Given the description of an element on the screen output the (x, y) to click on. 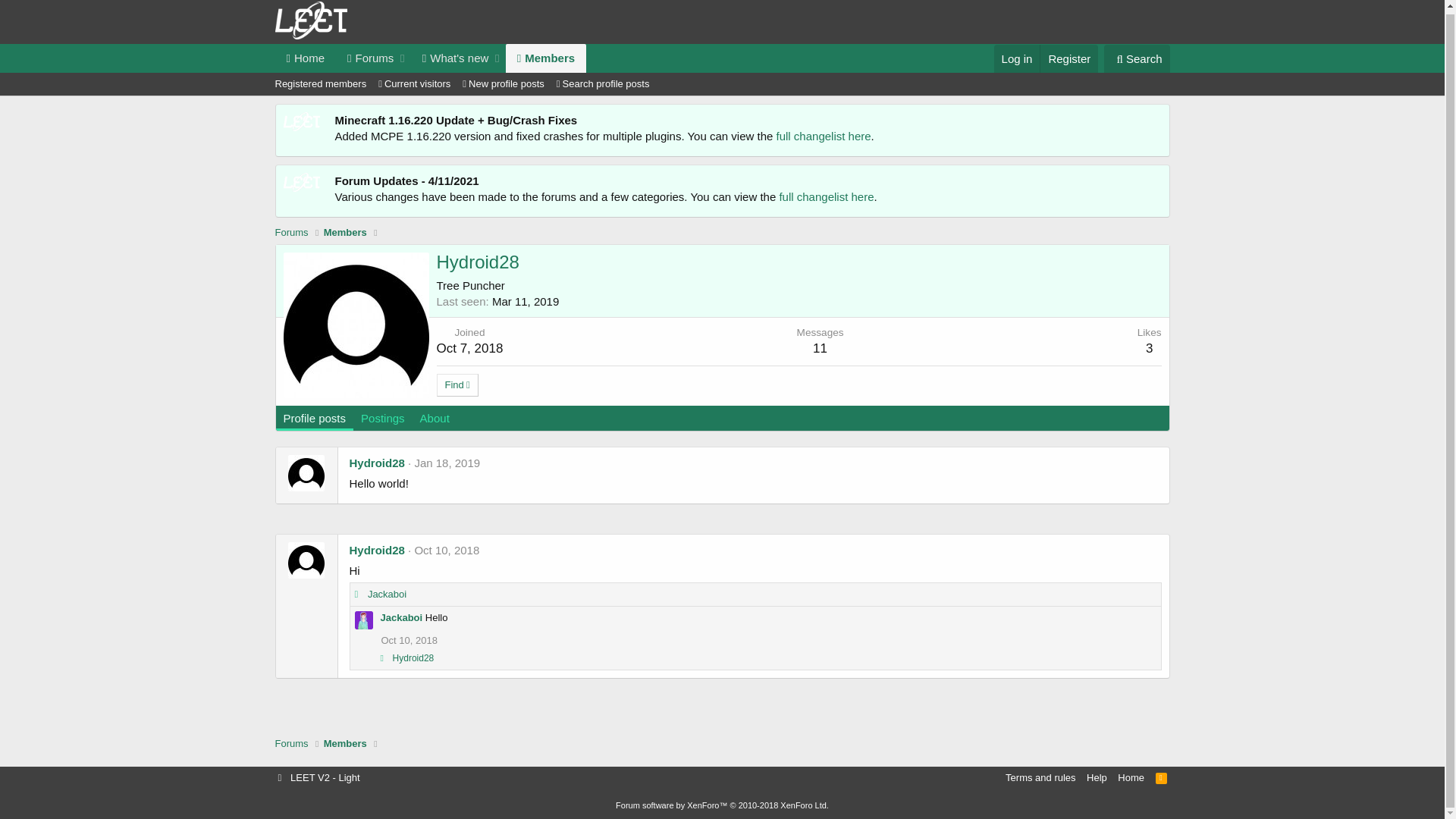
Likes Element type: hover (359, 596)
Hydroid28 Element type: text (413, 660)
What's new Element type: text (451, 61)
Home Element type: text (1130, 780)
Postings Element type: text (382, 420)
Terms and rules Element type: text (1040, 780)
11 Element type: text (819, 351)
RSS Element type: hover (1161, 780)
Registered members Element type: text (320, 86)
Find Element type: text (457, 387)
Current visitors Element type: text (414, 86)
Members Element type: text (545, 61)
Search profile posts Element type: text (602, 86)
Forums Element type: text (290, 235)
Search Element type: text (1137, 61)
Forums Element type: text (365, 61)
Likes Element type: hover (385, 660)
Oct 10, 2018 Element type: text (446, 552)
Home Element type: text (304, 61)
About Element type: text (434, 420)
Jan 18, 2019 Element type: text (447, 465)
Hydroid28 Element type: text (376, 552)
Profile posts Element type: text (315, 420)
Forums Element type: text (290, 746)
LEET V2 - Light Element type: text (318, 780)
Jackaboi Element type: text (401, 620)
Help Element type: text (1096, 780)
Hydroid28 Element type: text (376, 465)
Members Element type: text (345, 235)
full changelist here Element type: text (823, 138)
full changelist here Element type: text (825, 199)
Jackaboi Element type: text (386, 596)
Register Element type: text (1068, 61)
Members Element type: text (345, 746)
New profile posts Element type: text (502, 86)
Log in Element type: text (1017, 61)
